Given the description of an element on the screen output the (x, y) to click on. 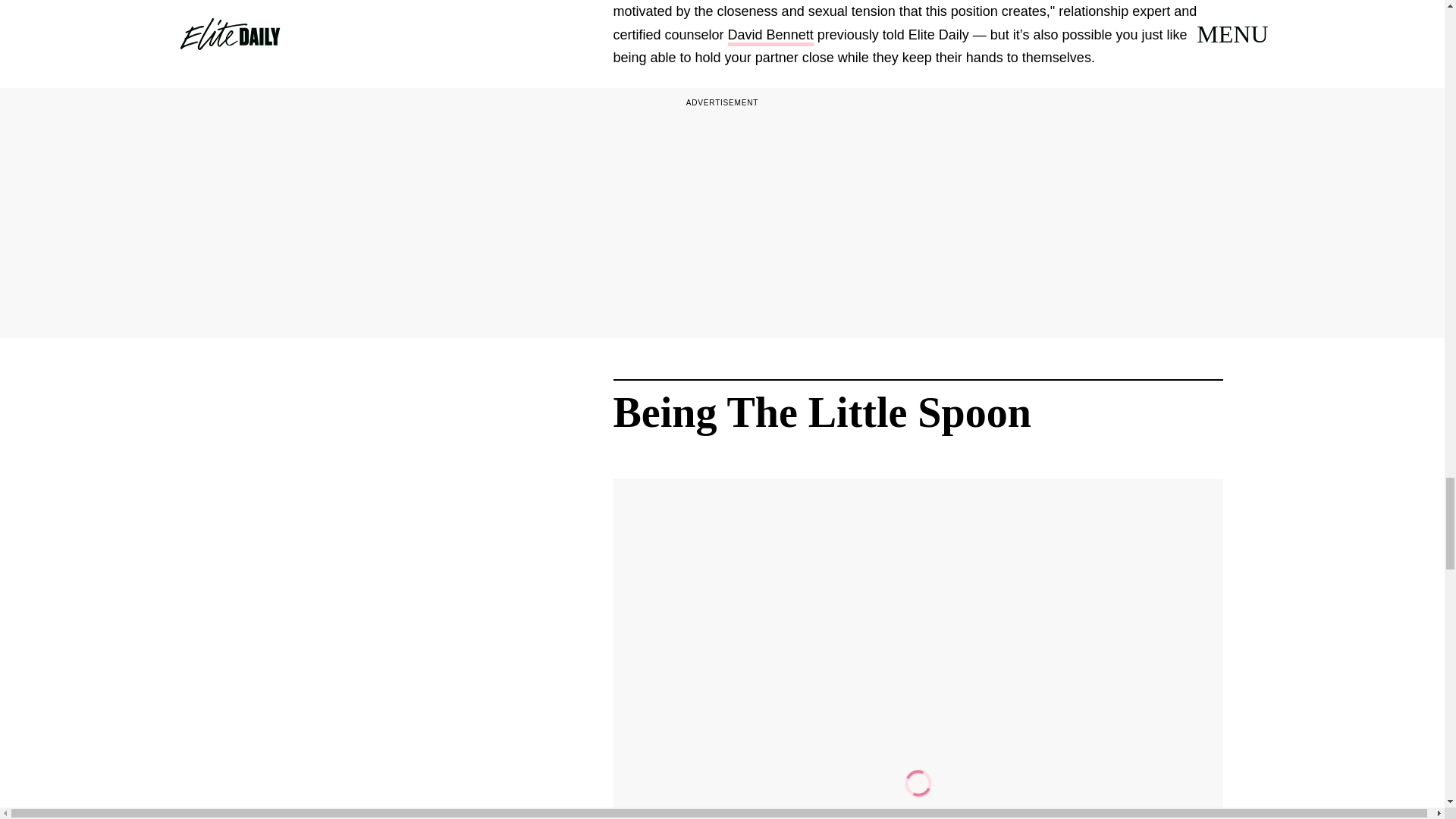
David Bennett (770, 36)
